Given the description of an element on the screen output the (x, y) to click on. 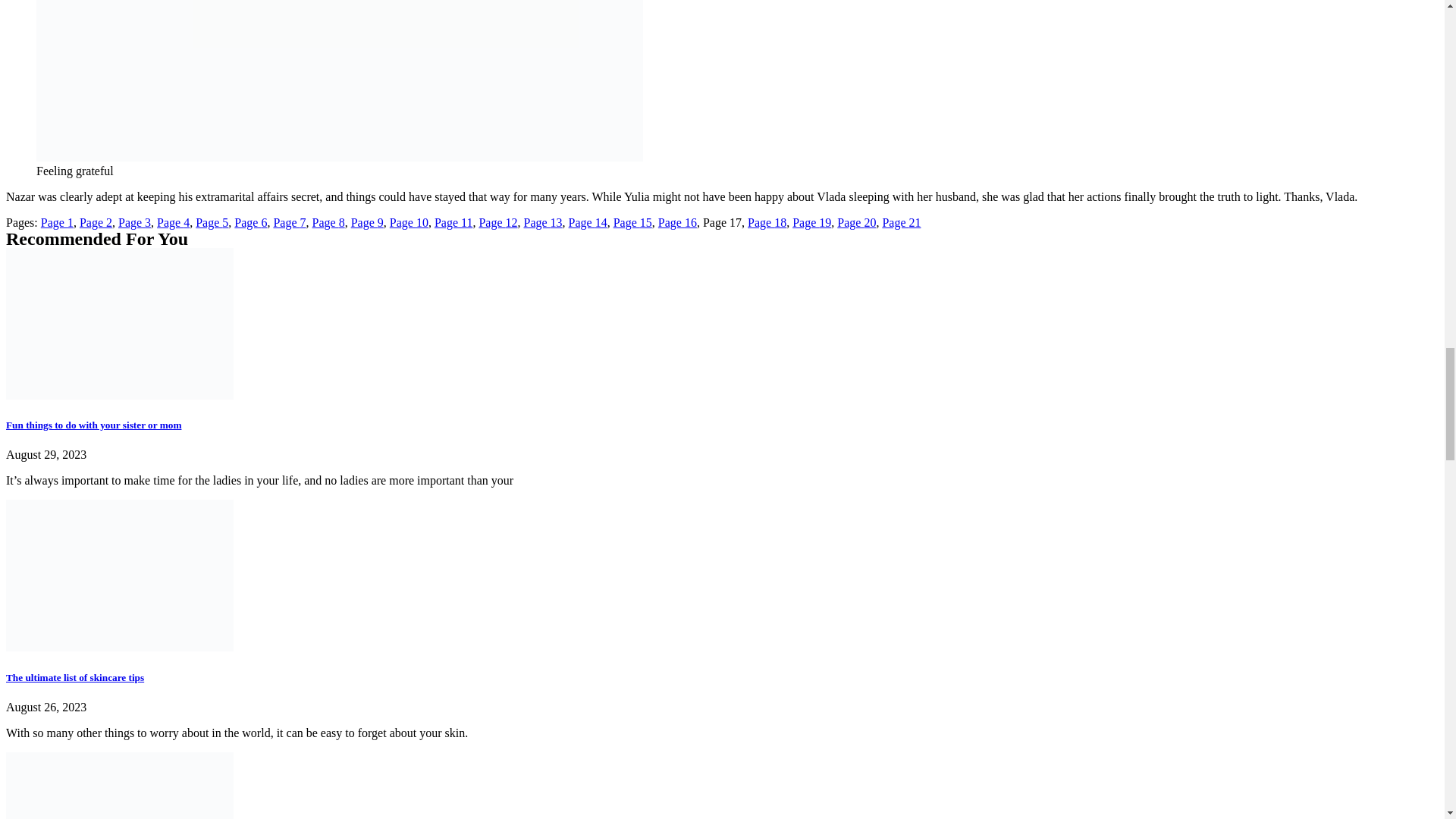
Page 7 (289, 222)
Page 15 (632, 222)
Page 3 (134, 222)
Page 14 (588, 222)
Page 2 (96, 222)
Page 20 (856, 222)
Page 12 (497, 222)
Page 5 (211, 222)
Page 9 (367, 222)
Page 16 (677, 222)
